Given the description of an element on the screen output the (x, y) to click on. 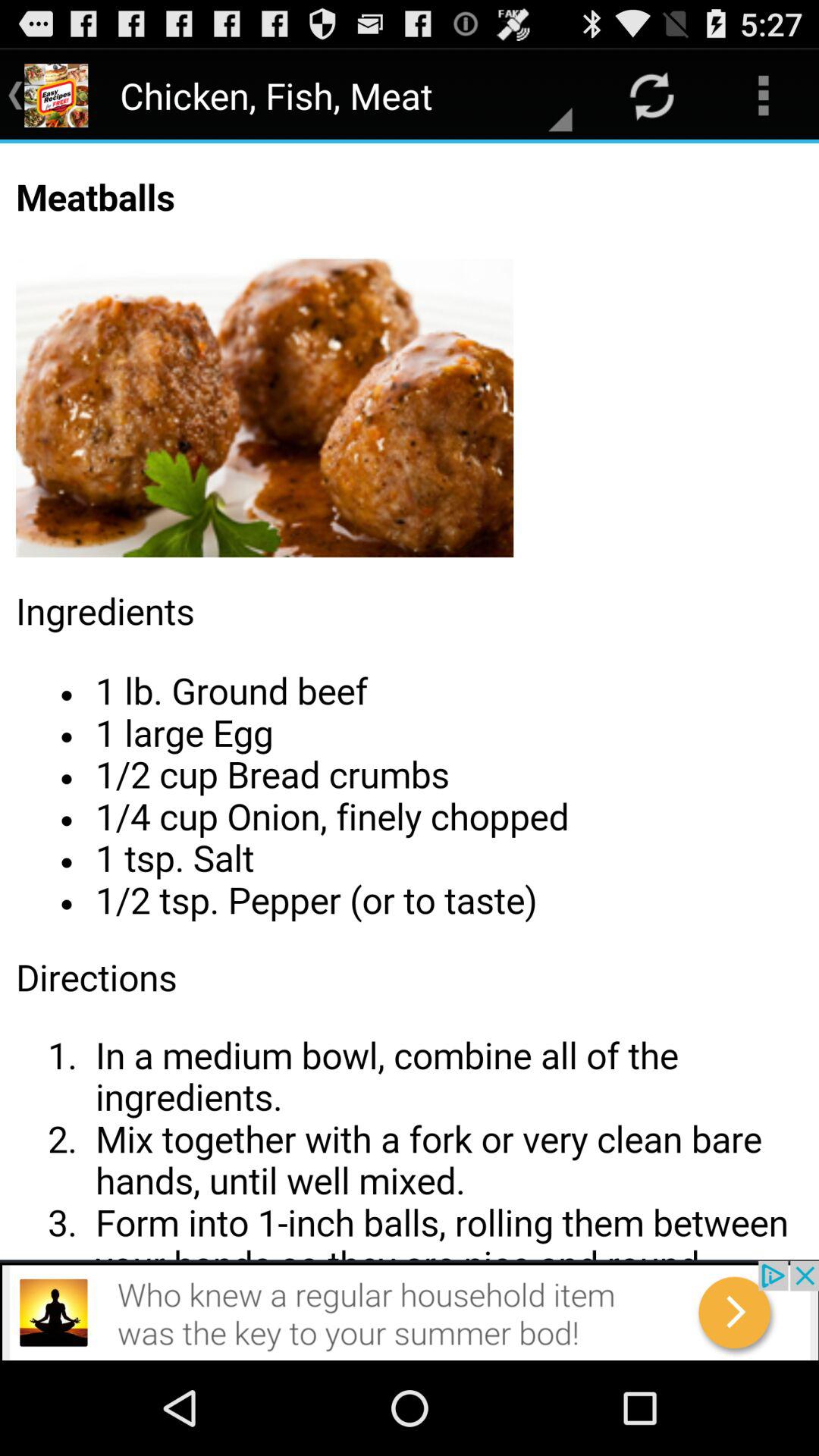
advertisement page (409, 1310)
